Given the description of an element on the screen output the (x, y) to click on. 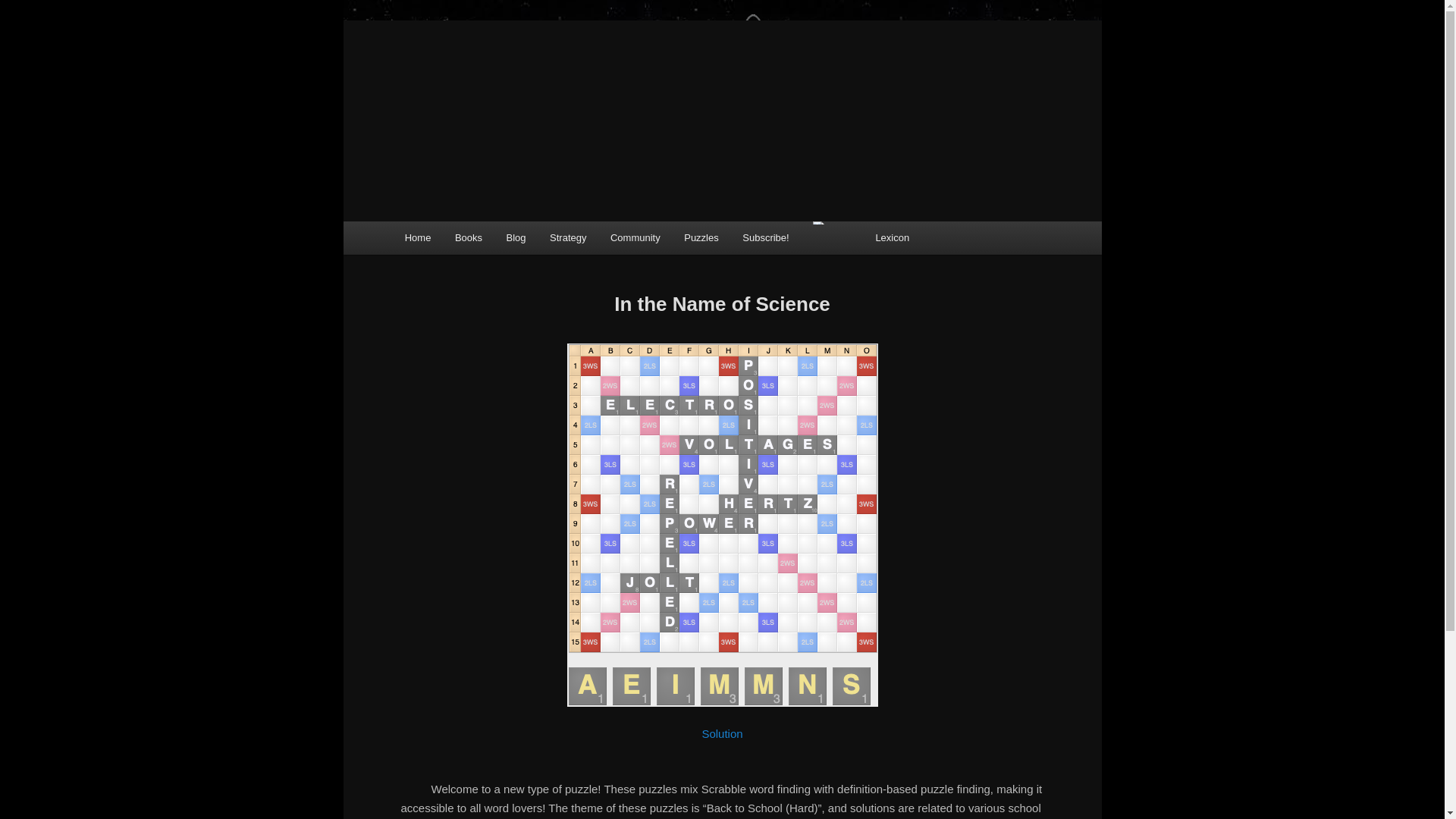
Strategy (567, 237)
Solution (721, 733)
Breaking the Game (503, 53)
Subscribe! (766, 237)
Puzzles (700, 237)
Books (468, 237)
Home (417, 237)
Community (634, 237)
Breaking the Game (503, 53)
Lexicon (892, 237)
space (831, 222)
Blog (516, 237)
